Given the description of an element on the screen output the (x, y) to click on. 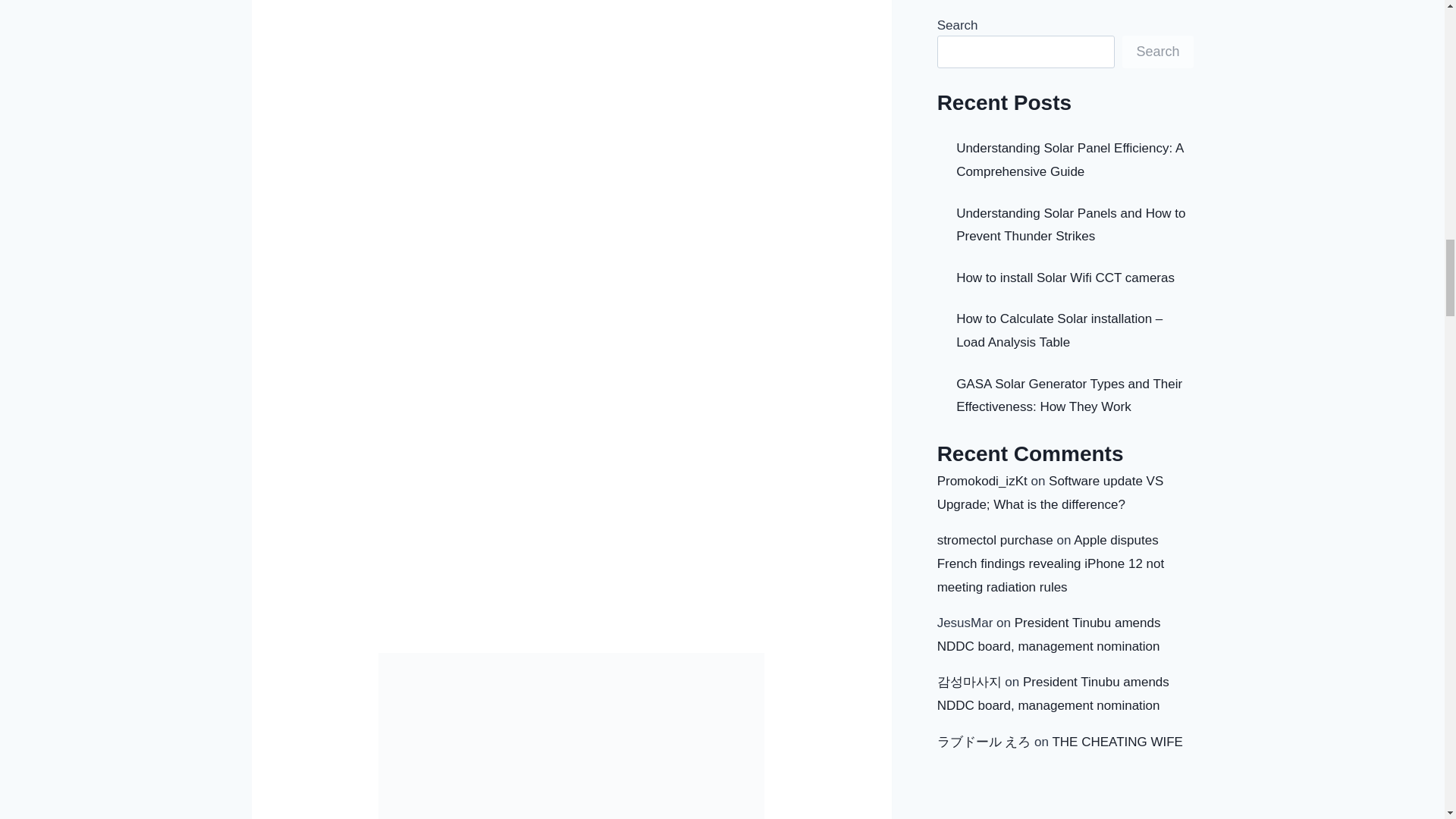
Advertisement (571, 540)
